Given the description of an element on the screen output the (x, y) to click on. 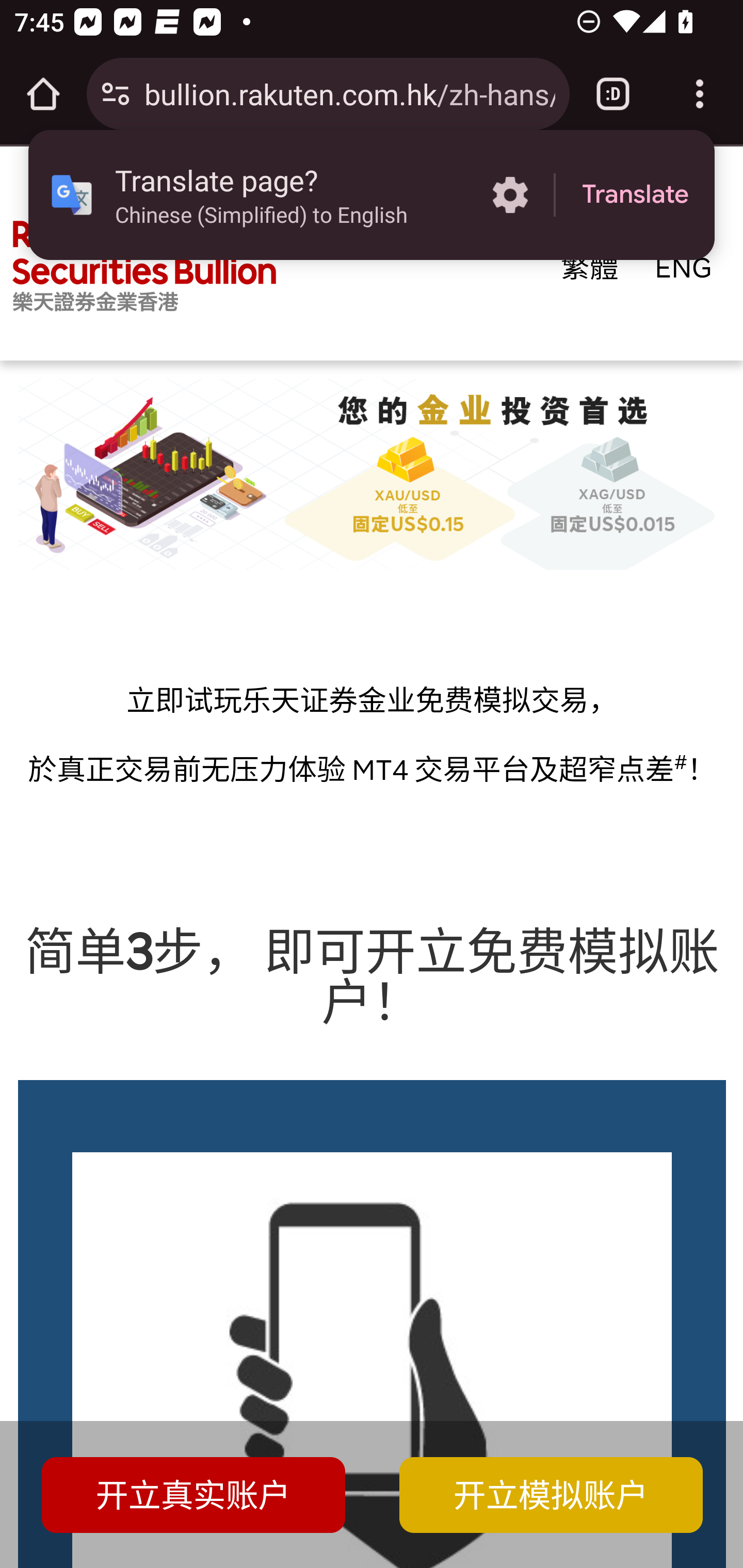
Open the home page (43, 93)
Connection is secure (115, 93)
Switch or close tabs (612, 93)
Customize and control Google Chrome (699, 93)
bullion.rakuten.com.hk/zh-hans/start-demo-trade (349, 92)
Translate (634, 195)
More options in the Translate page? (509, 195)
开立真实账户 (192, 1495)
开立模拟账户 (550, 1495)
